Given the description of an element on the screen output the (x, y) to click on. 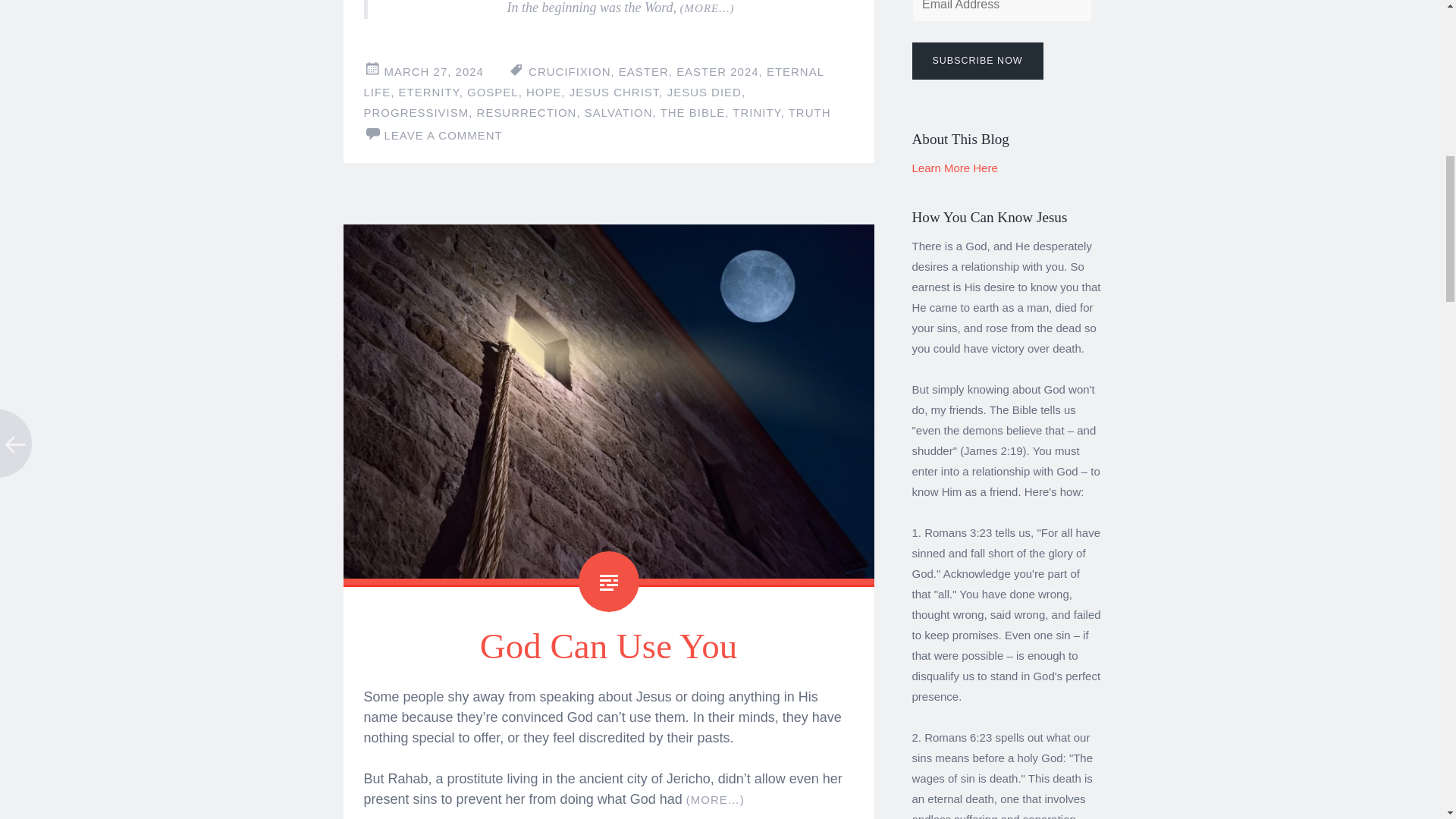
ETERNITY (427, 91)
GOSPEL (492, 91)
ETERNAL LIFE (594, 81)
TRUTH (810, 112)
EASTER 2024 (717, 71)
3:35 pm (433, 71)
God Can Use You (609, 645)
TRINITY (756, 112)
PROGRESSIVISM (416, 112)
THE BIBLE (693, 112)
